Given the description of an element on the screen output the (x, y) to click on. 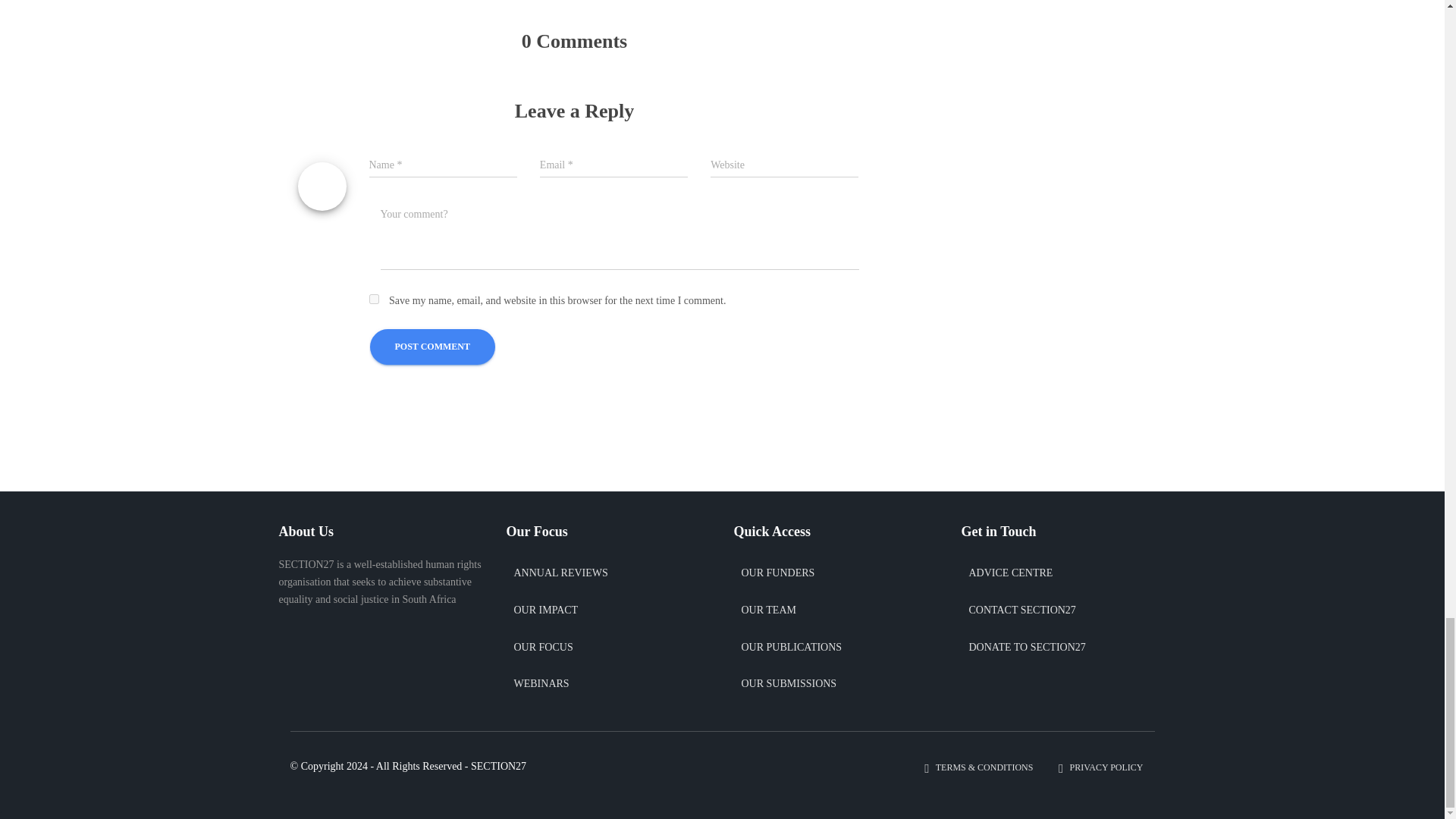
Post Comment (432, 346)
yes (373, 298)
